Given the description of an element on the screen output the (x, y) to click on. 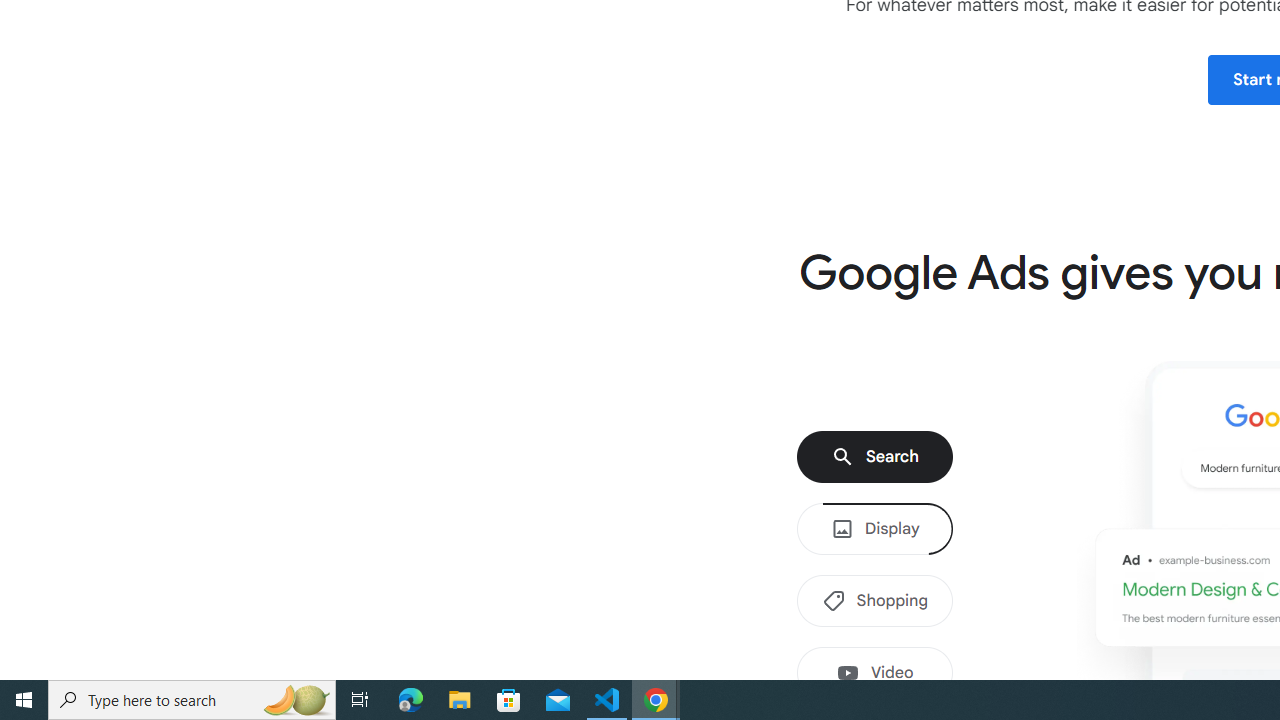
Search - Selected, more information after list (874, 457)
Video (874, 673)
Shopping (874, 601)
Display (874, 529)
